Given the description of an element on the screen output the (x, y) to click on. 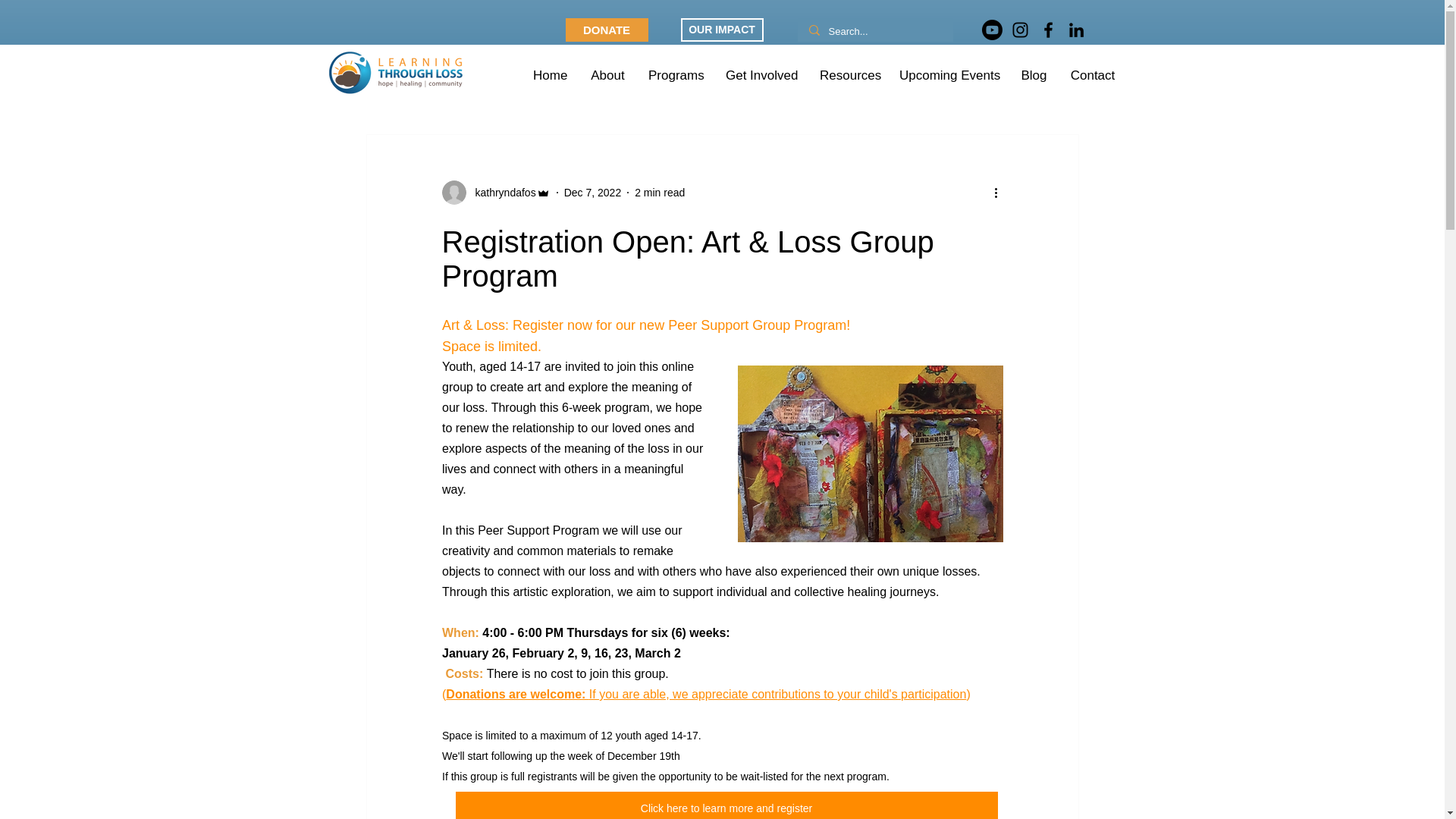
Get Involved (761, 75)
Resources (848, 75)
Blog (1033, 75)
DONATE (606, 29)
Learning Through Loss - Logo (396, 72)
Programs (475, 88)
About (607, 75)
OUR IMPACT (721, 29)
Click here to learn more and register (725, 805)
2 min read (659, 192)
kathryndafos (495, 192)
Upcoming Events (948, 75)
Programs (675, 75)
All Posts (390, 88)
Home (549, 75)
